Given the description of an element on the screen output the (x, y) to click on. 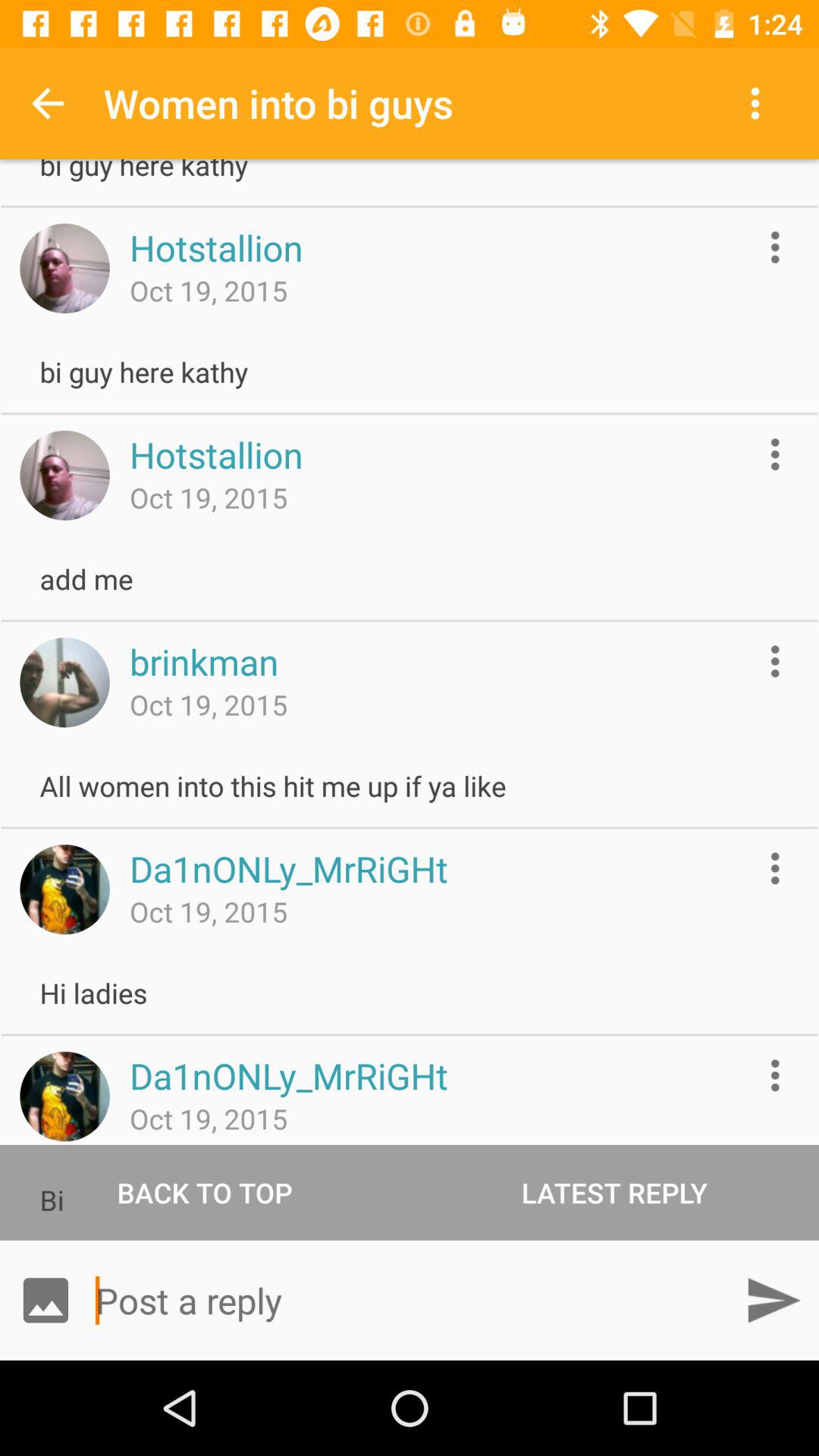
click to see image (64, 682)
